Given the description of an element on the screen output the (x, y) to click on. 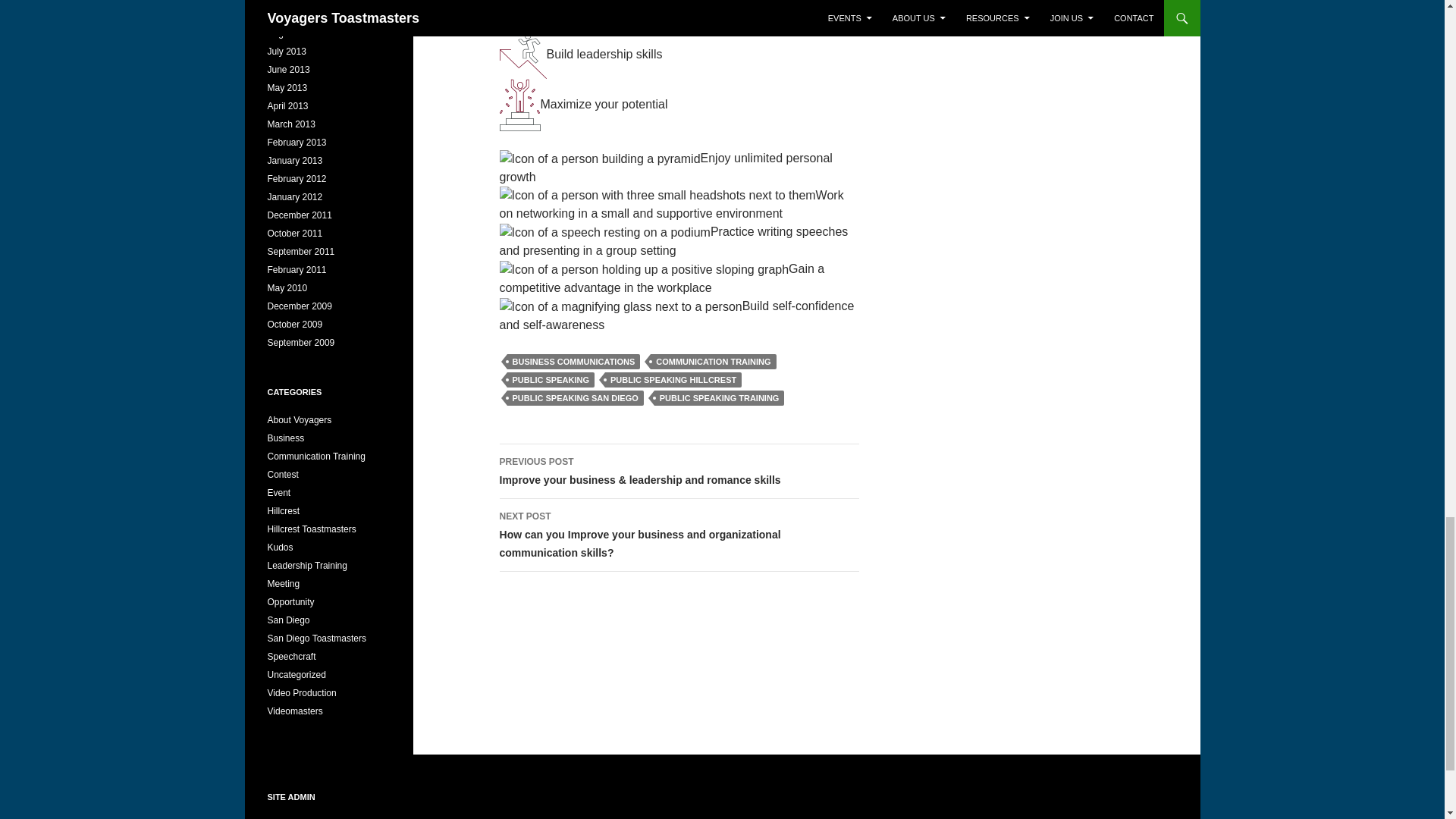
Event announcements and reports (277, 492)
COMMUNICATION TRAINING (713, 361)
Recognition for achievements, awards and service (279, 547)
BUSINESS COMMUNICATIONS (573, 361)
Club business (285, 438)
